Given the description of an element on the screen output the (x, y) to click on. 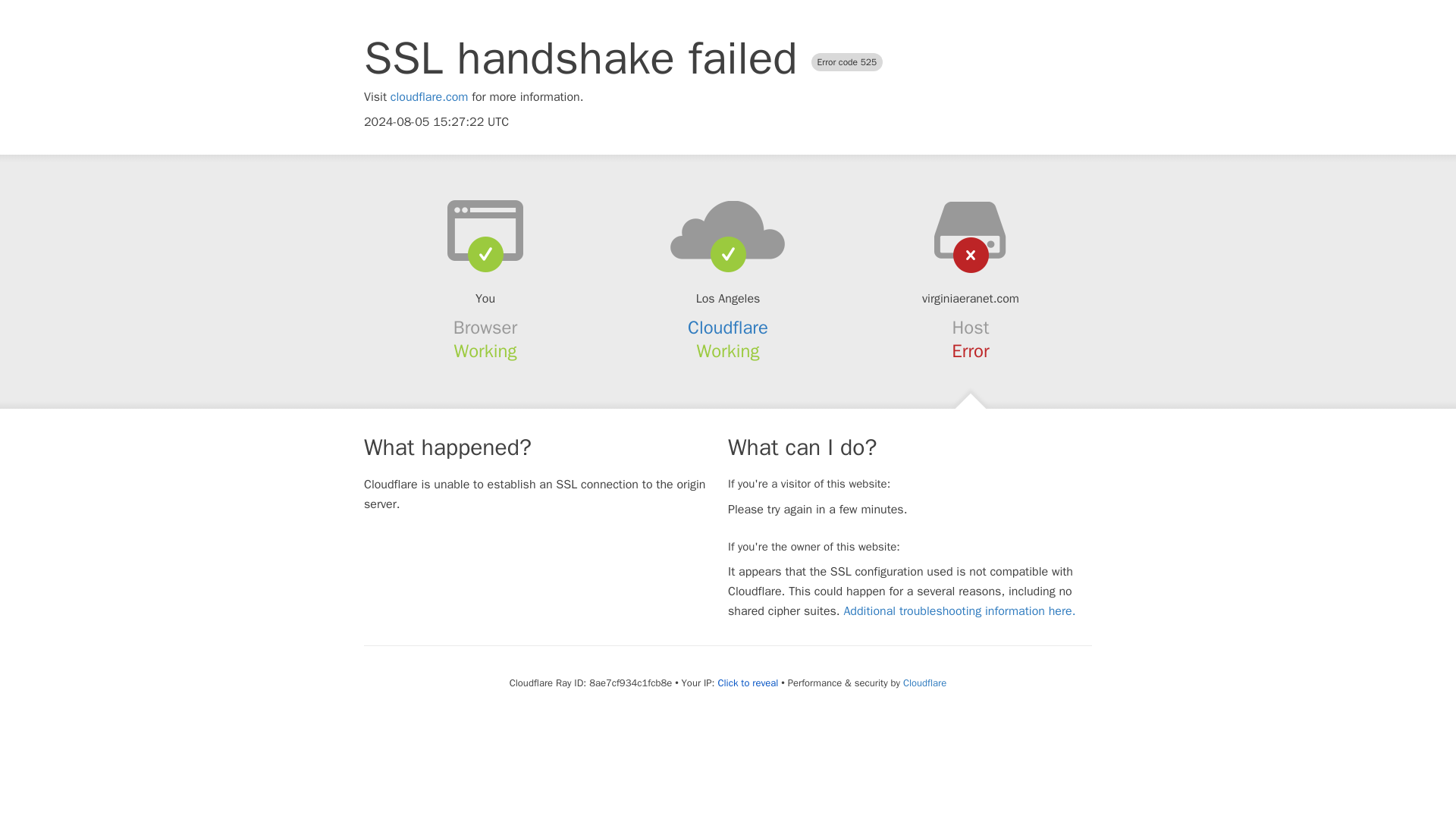
Cloudflare (924, 682)
Click to reveal (747, 683)
Cloudflare (727, 327)
cloudflare.com (429, 96)
Additional troubleshooting information here. (959, 611)
